Given the description of an element on the screen output the (x, y) to click on. 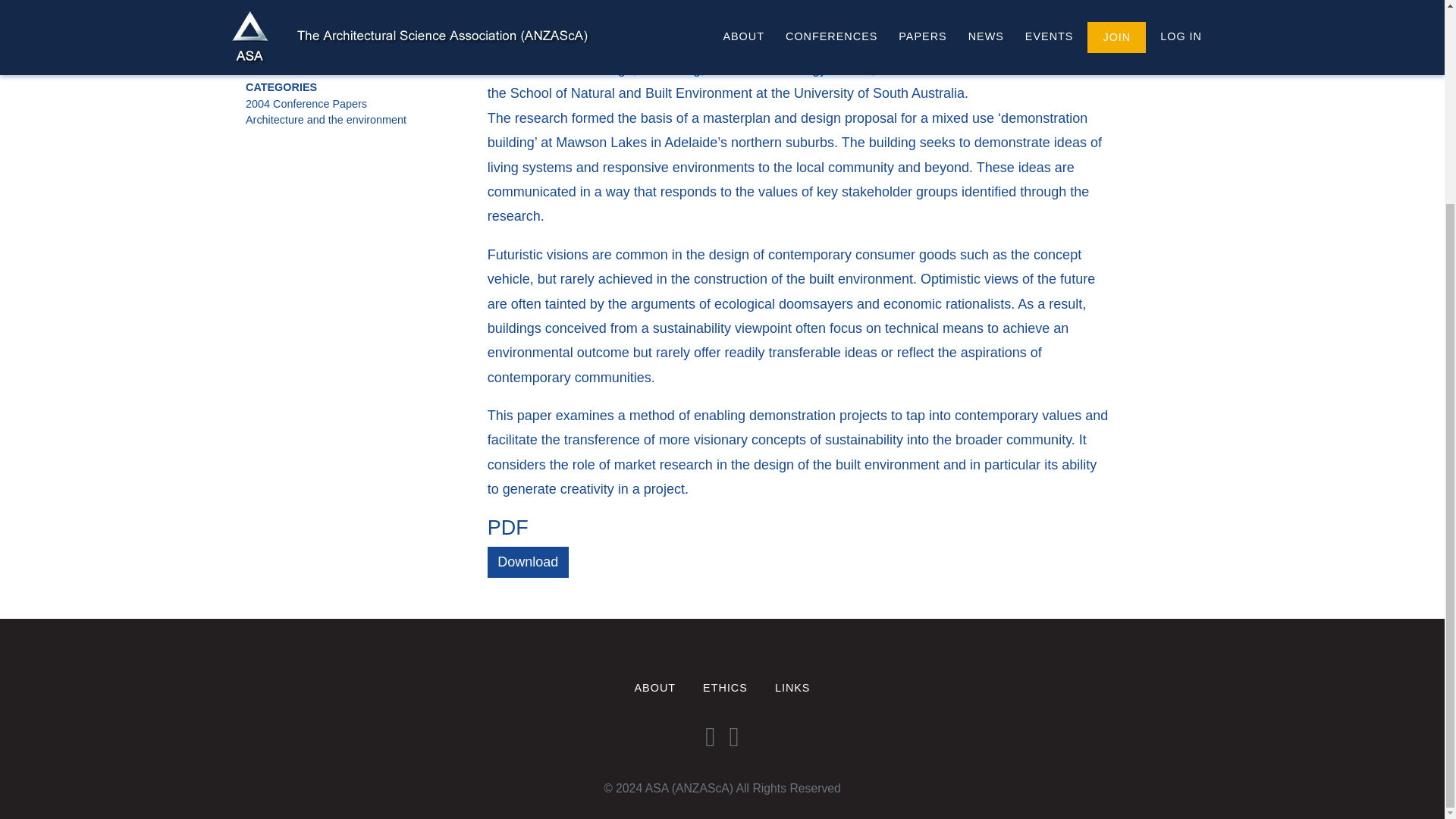
LINKS (792, 688)
ABOUT (655, 688)
ETHICS (724, 688)
Download (528, 562)
